Given the description of an element on the screen output the (x, y) to click on. 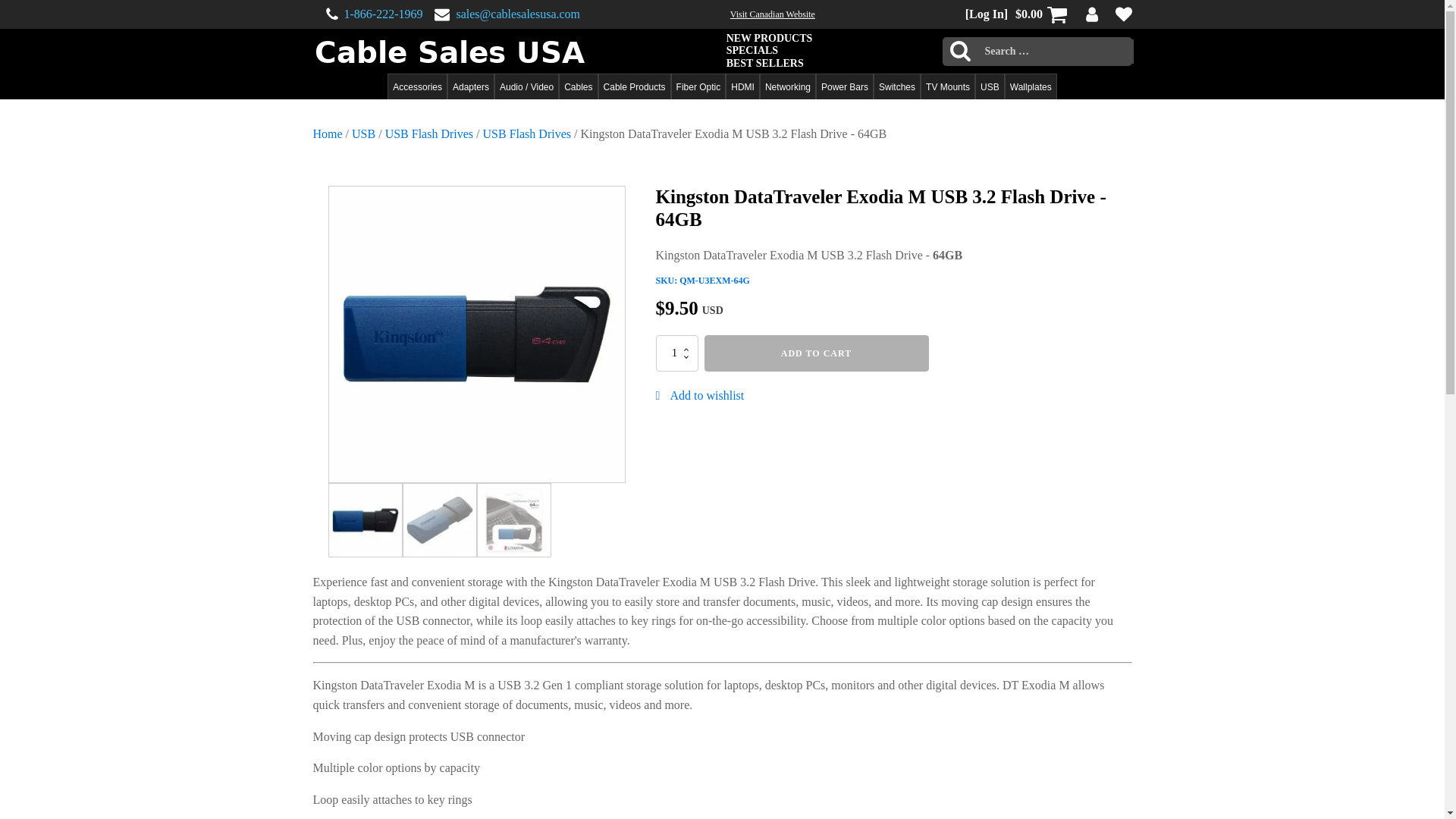
QM-U3EXM-64G-1.jpg (476, 334)
Visit Canadian Website (772, 14)
1-866-222-1969 (383, 14)
My account (1091, 14)
1 (676, 352)
